Given the description of an element on the screen output the (x, y) to click on. 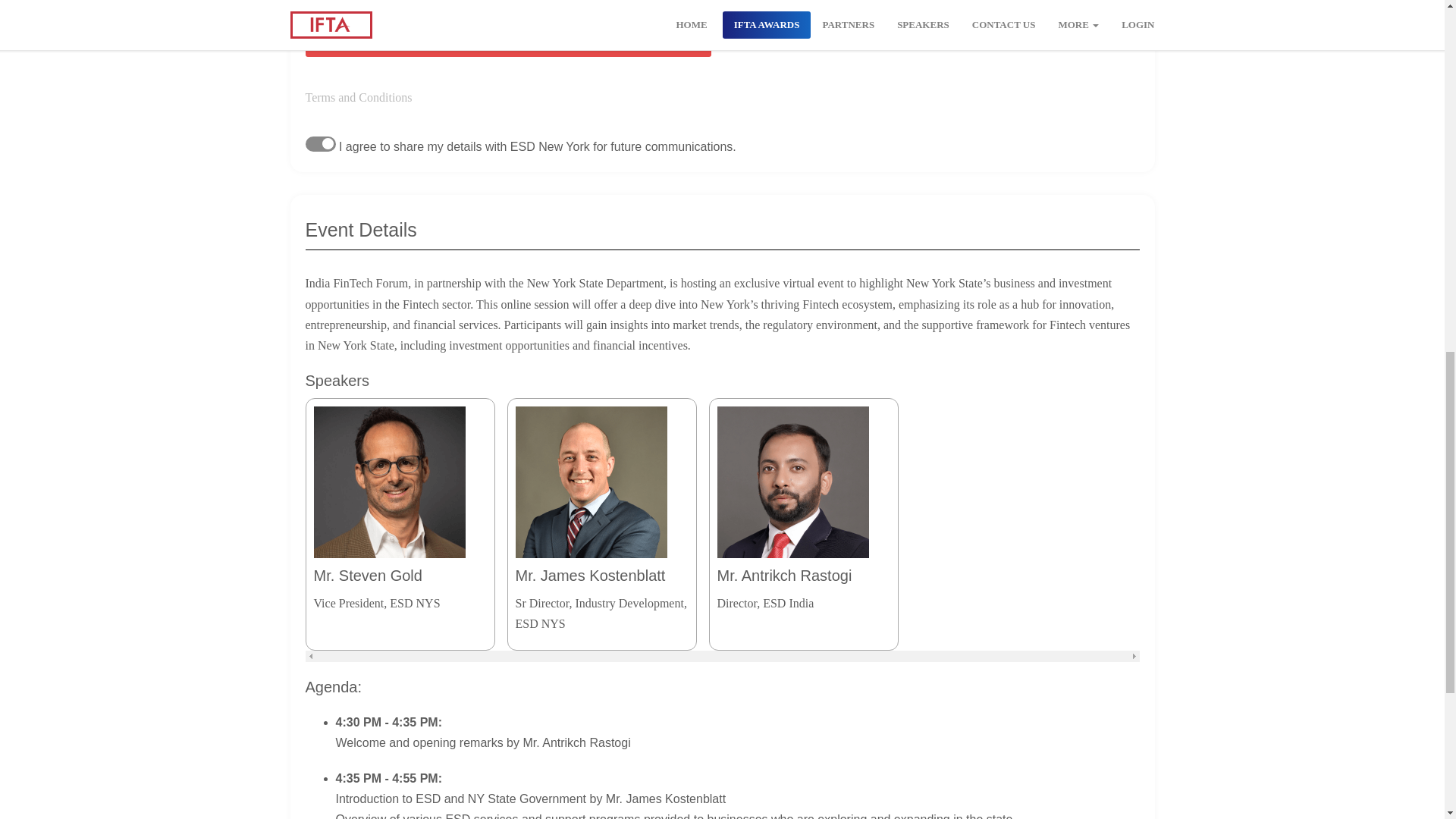
Terms and Conditions (358, 97)
